Given the description of an element on the screen output the (x, y) to click on. 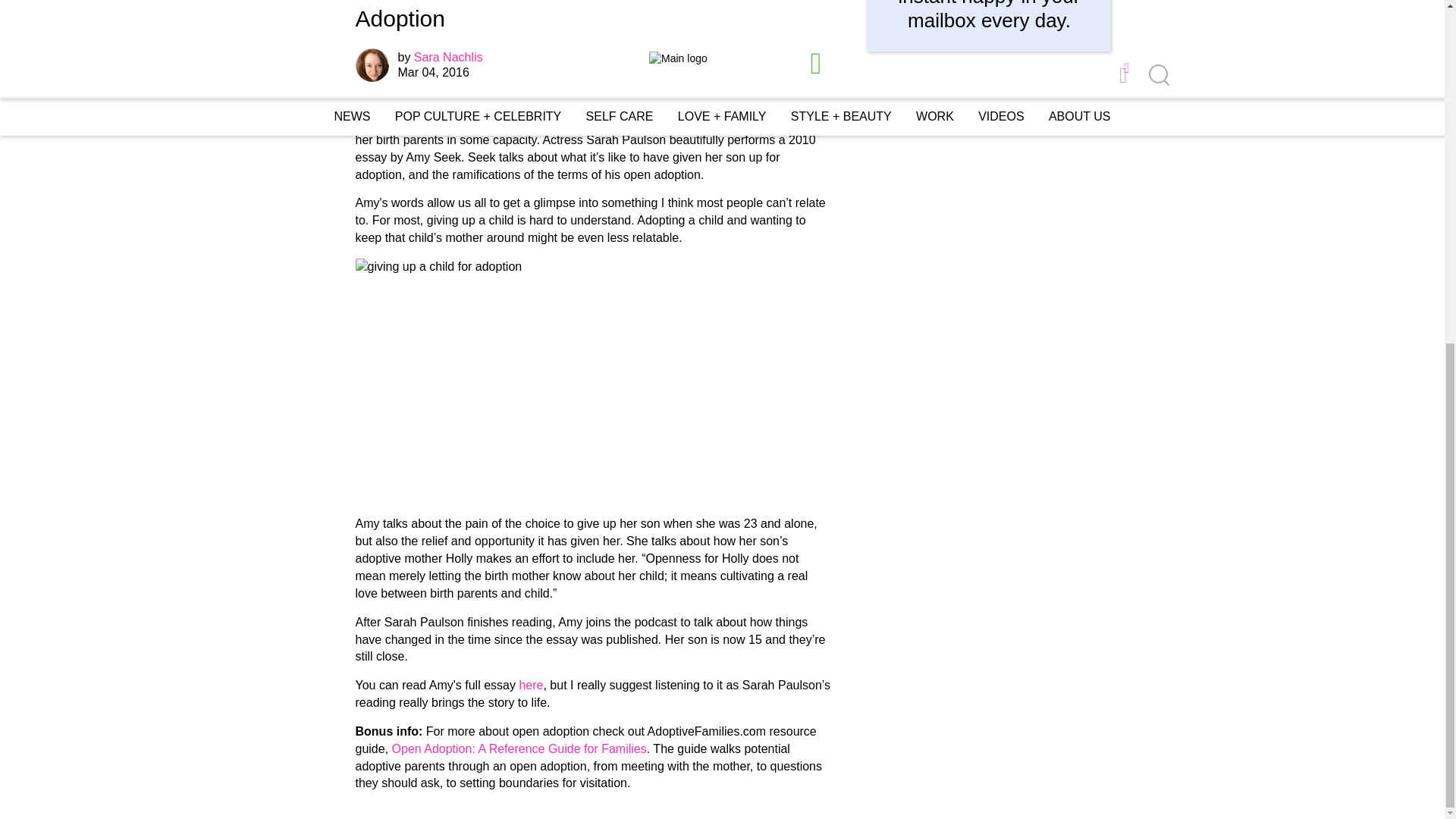
here (530, 684)
Sara Nachlis (448, 56)
This episode (389, 104)
Open Adoption: A Reference Guide for Families (518, 748)
